Given the description of an element on the screen output the (x, y) to click on. 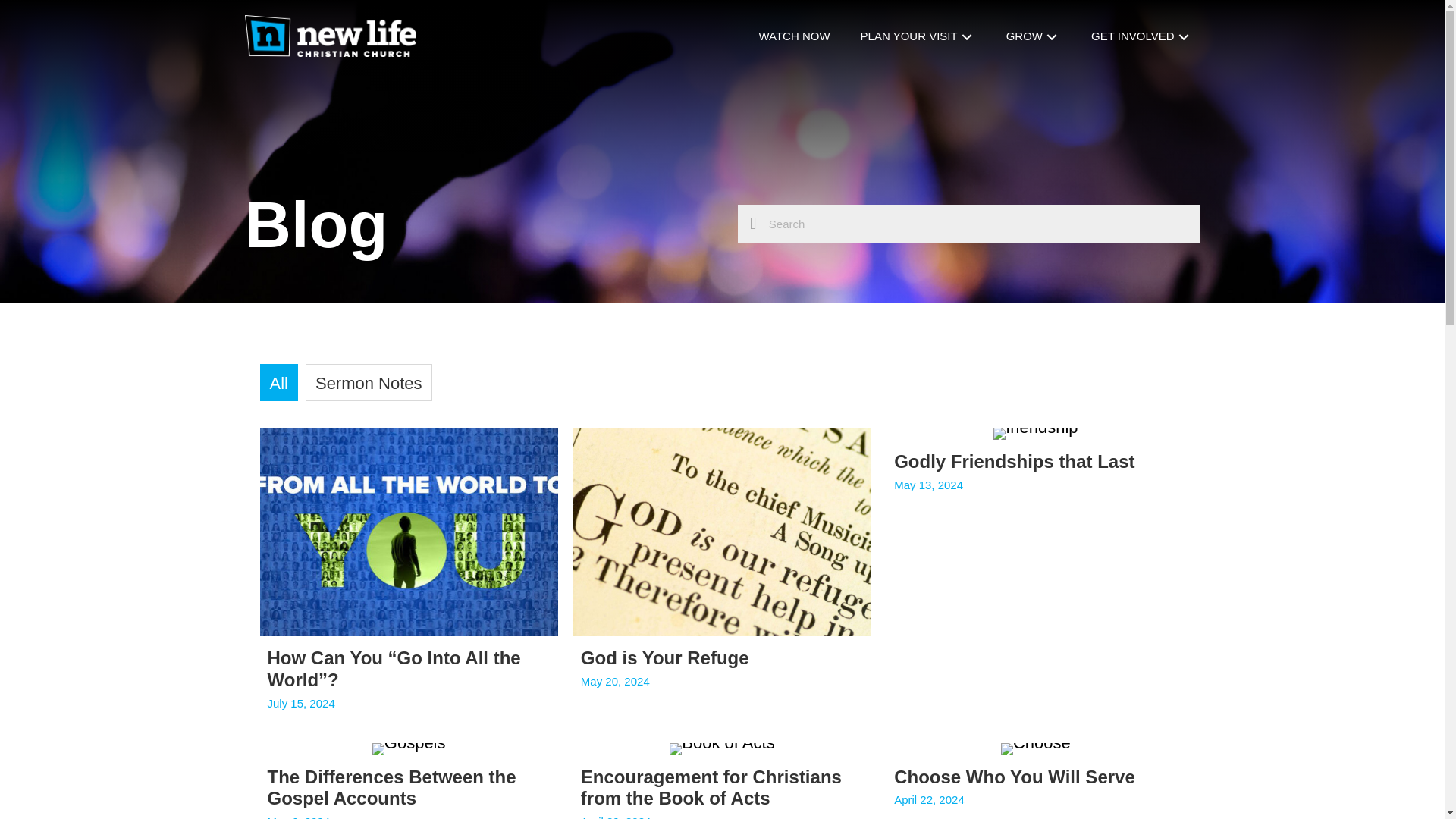
Godly Friendships that Last (1035, 577)
Search (977, 223)
GROW (1033, 37)
Book of Acts (721, 748)
The Differences Between the Gospel Accounts (408, 780)
Encouragement for Christians from the Book of Acts (721, 780)
GET INVOLVED (1141, 37)
WATCH NOW (794, 37)
Choose Who You Will Serve (1035, 780)
refuge (721, 531)
PLAN YOUR VISIT (918, 37)
Choose (1035, 748)
Gospels (408, 748)
God is Your Refuge (721, 577)
friendship (1034, 433)
